Given the description of an element on the screen output the (x, y) to click on. 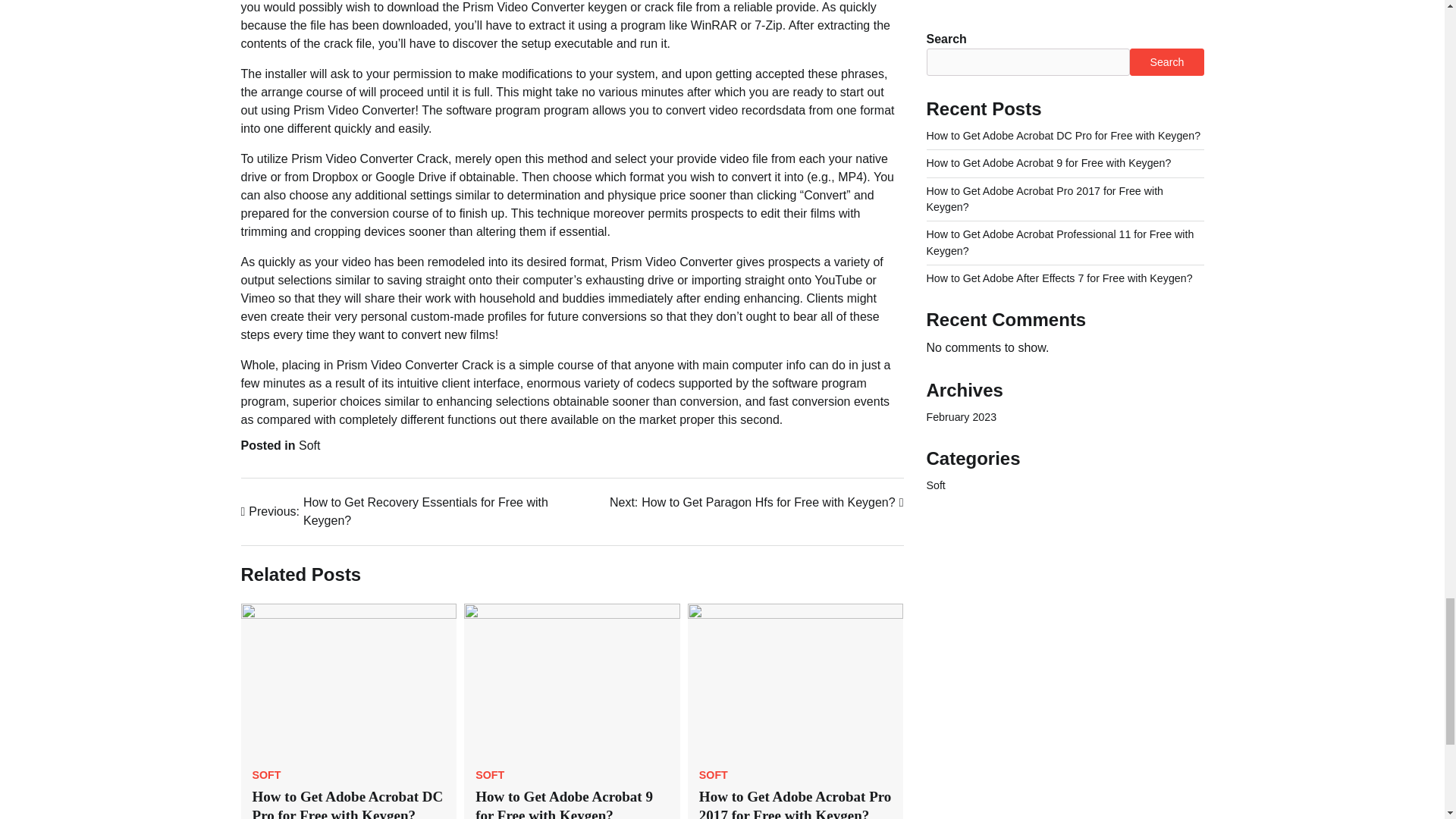
How to Get Adobe Acrobat 9 for Free with Keygen? (564, 803)
How to Get Adobe Acrobat DC Pro for Free with Keygen? (346, 803)
SOFT (713, 774)
SOFT (489, 774)
Soft (757, 502)
How to Get Adobe Acrobat Pro 2017 for Free with Keygen? (309, 445)
SOFT (794, 803)
